Given the description of an element on the screen output the (x, y) to click on. 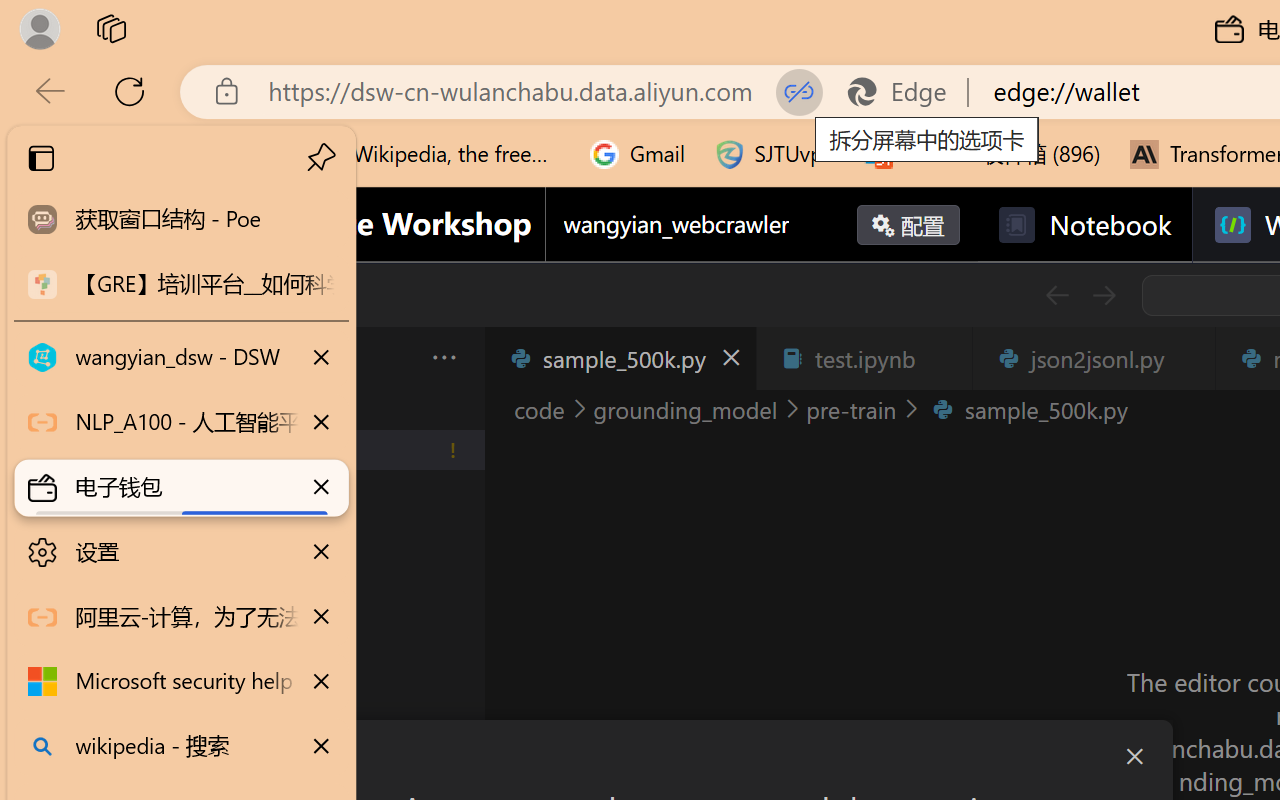
Run and Debug (Ctrl+Shift+D) (135, 692)
Search (Ctrl+Shift+F) (135, 519)
